Given the description of an element on the screen output the (x, y) to click on. 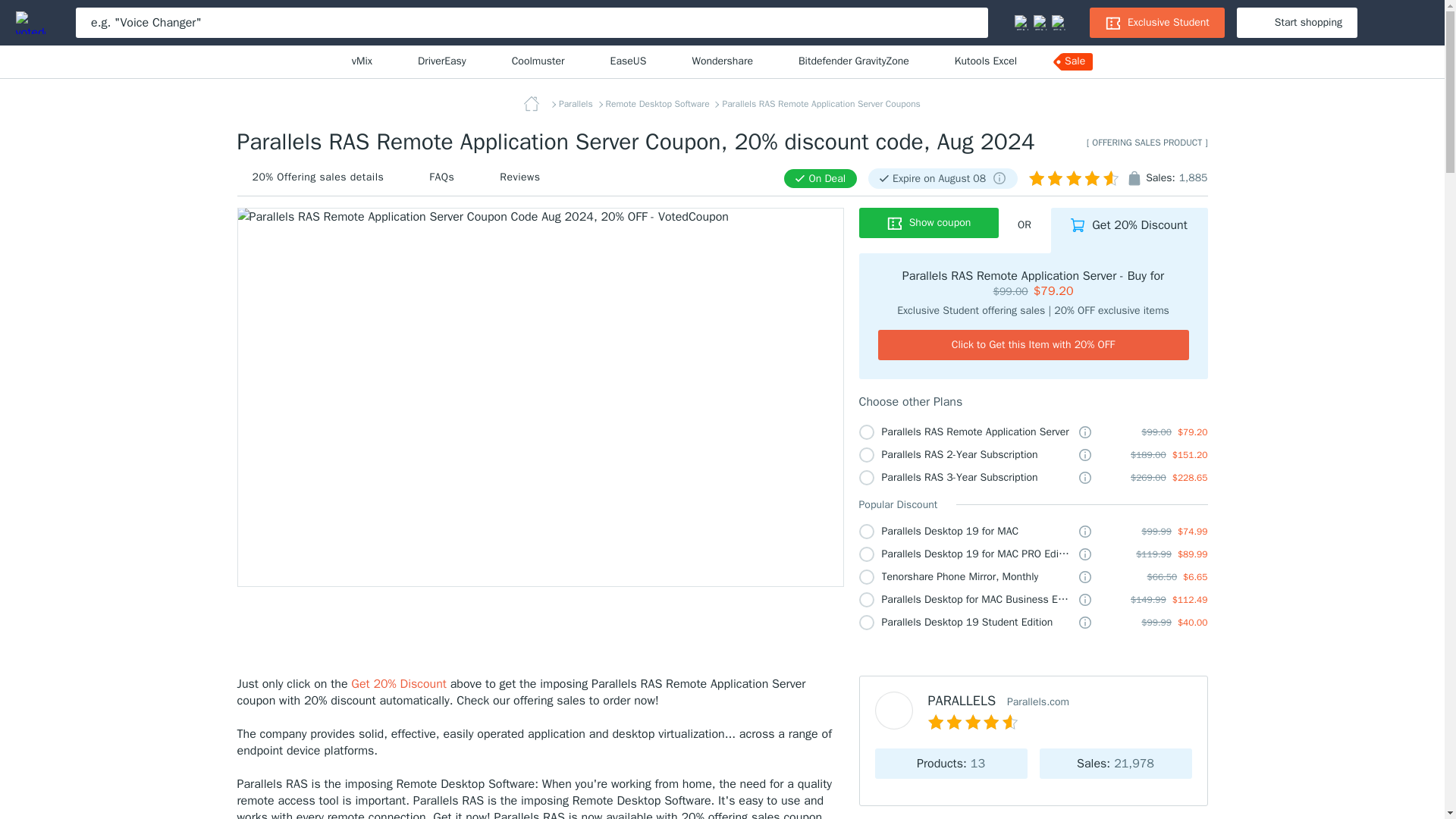
EaseUS Coupon (628, 61)
Exclusive Student (1154, 22)
Favorites (1387, 22)
Parallels RAS 3-Year Subscription (965, 477)
Coolmuster (538, 61)
Parallels (577, 103)
vMix HD Coupon (362, 61)
Parallels RAS 2-Year Subscription (965, 454)
Coolmuster Coupon (538, 61)
Kutools Excel (985, 61)
Parallels RAS Remote Application Server (965, 432)
Wondershare (721, 61)
FAQs (440, 177)
Bitdefender Coupon (852, 61)
